Given the description of an element on the screen output the (x, y) to click on. 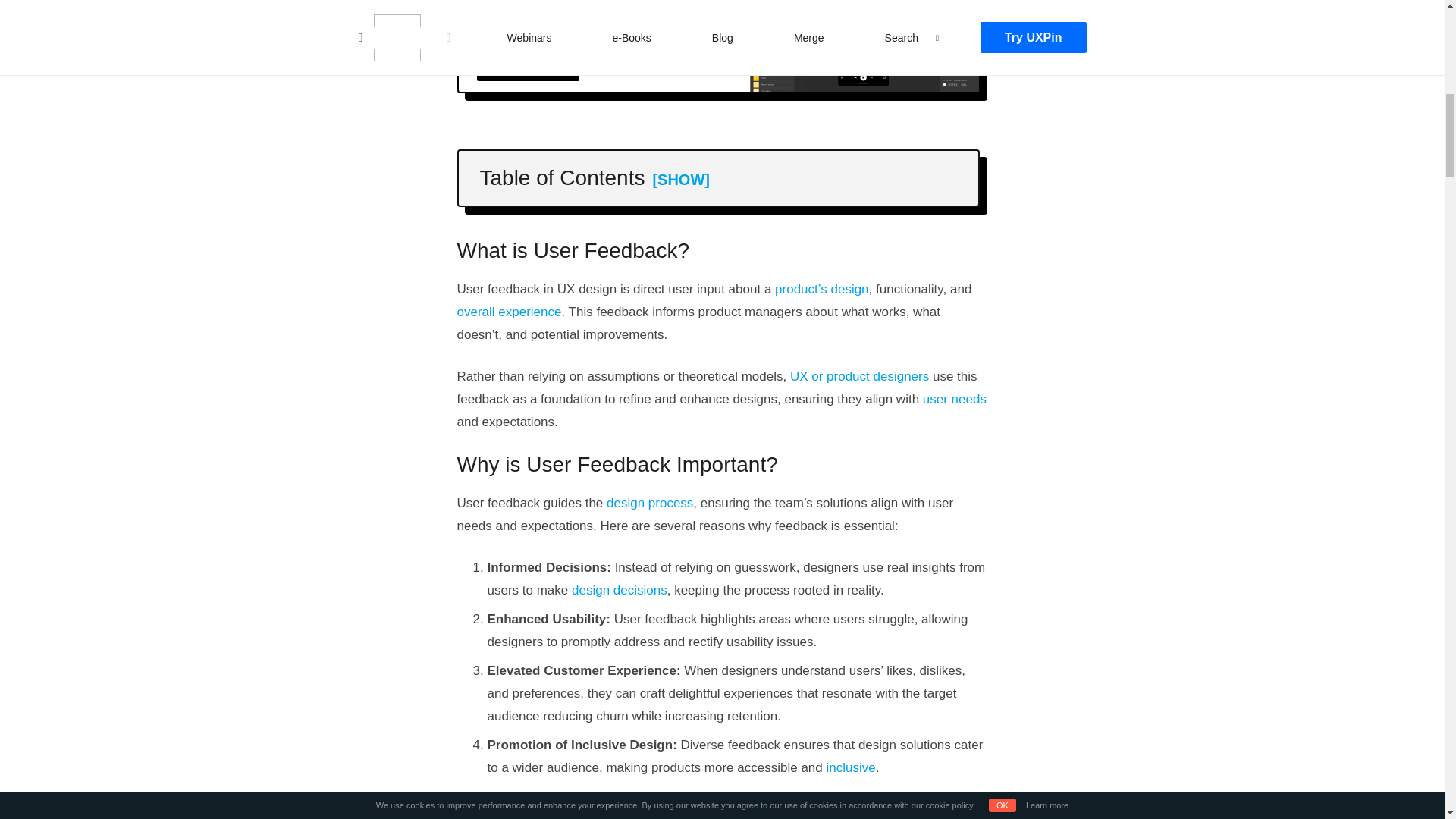
What is User Feedback? (566, 212)
UX or product designers (859, 376)
Try UXPin (527, 64)
overall experience (508, 311)
Try UXPin (527, 64)
